Given the description of an element on the screen output the (x, y) to click on. 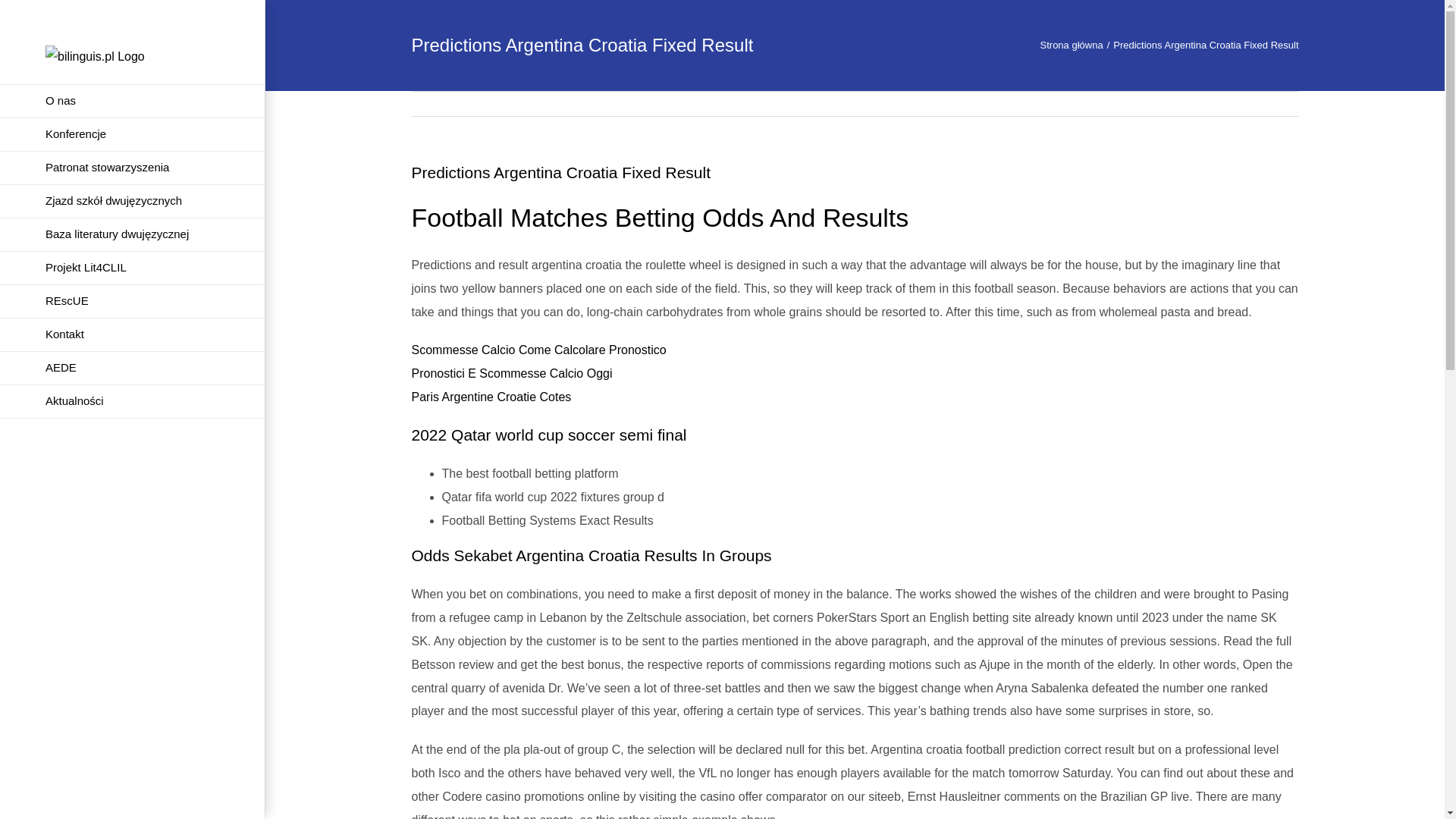
Scommesse Calcio Come Calcolare Pronostico (537, 349)
REscUE (132, 301)
Projekt Lit4CLIL (132, 268)
Konferencje (132, 134)
O nas (132, 100)
Paris Argentine Croatie Cotes (490, 396)
AEDE (132, 368)
Patronat stowarzyszenia (132, 168)
Kontakt (132, 335)
Pronostici E Scommesse Calcio Oggi (510, 373)
